Given the description of an element on the screen output the (x, y) to click on. 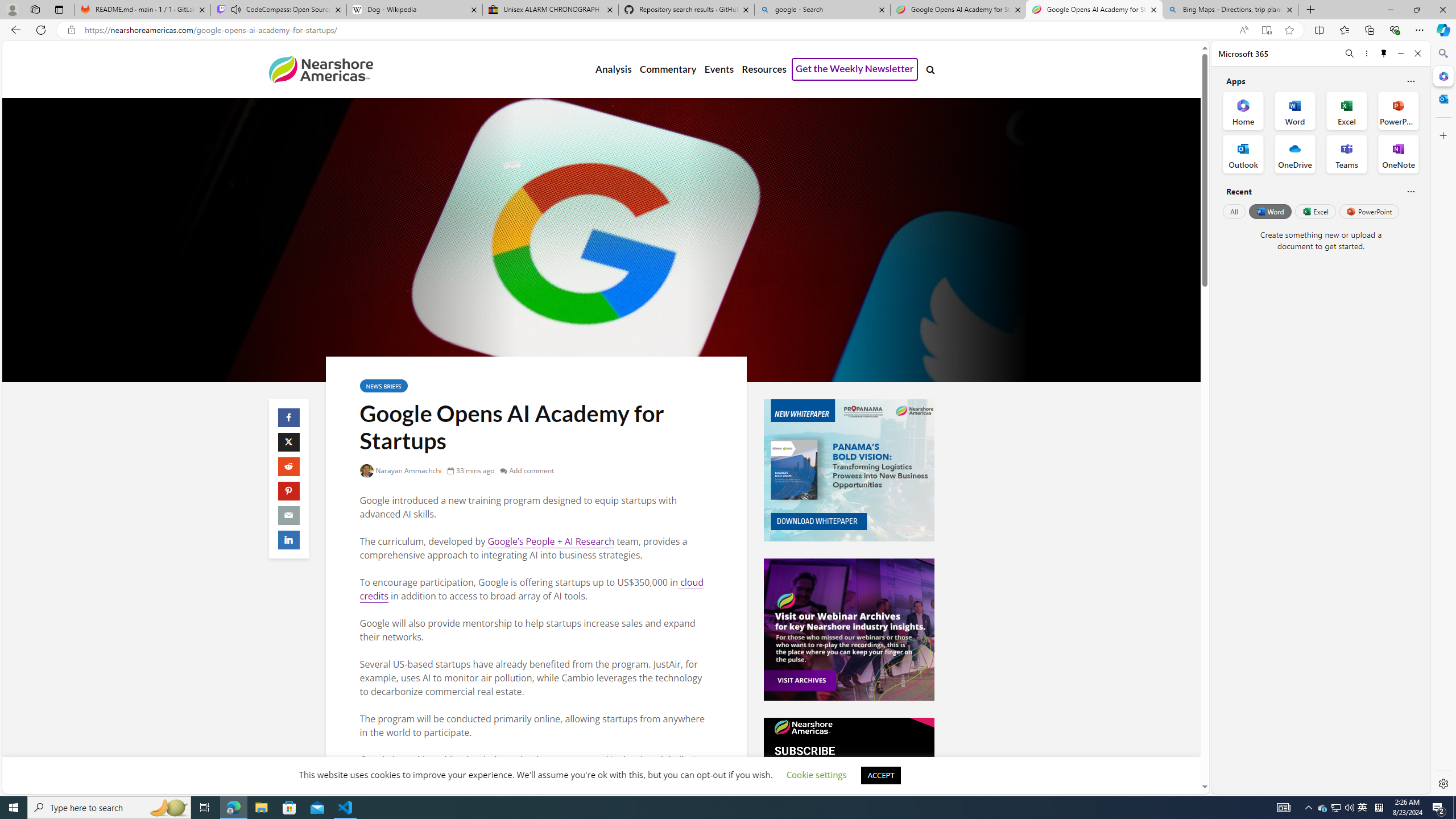
propanama-whitepaper_1_sidead.png (848, 470)
Enter Immersive Reader (F9) (1266, 29)
Get the Weekly Newsletter (854, 69)
Refresh (40, 29)
Analysis (613, 69)
Analysis (613, 69)
All (1233, 210)
Close tab (1289, 9)
Copilot (Ctrl+Shift+.) (1442, 29)
Collections (1369, 29)
Search (1442, 53)
